Given the description of an element on the screen output the (x, y) to click on. 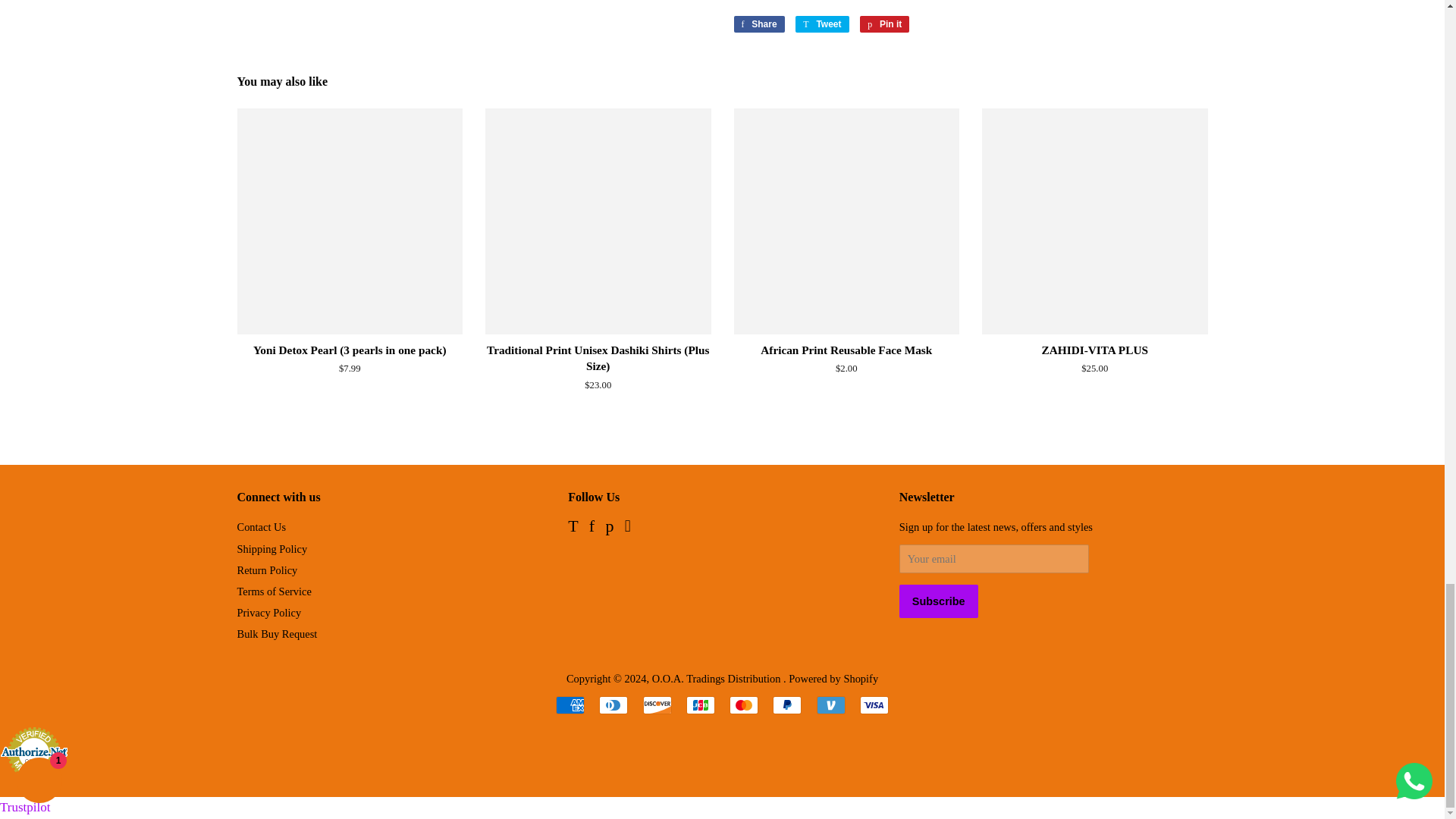
Discover (657, 705)
PayPal (787, 705)
JCB (699, 705)
Diners Club (612, 705)
Venmo (830, 705)
Pin on Pinterest (884, 23)
Tweet on Twitter (821, 23)
Subscribe (938, 601)
American Express (570, 705)
Visa (874, 705)
Mastercard (743, 705)
Share on Facebook (758, 23)
